Given the description of an element on the screen output the (x, y) to click on. 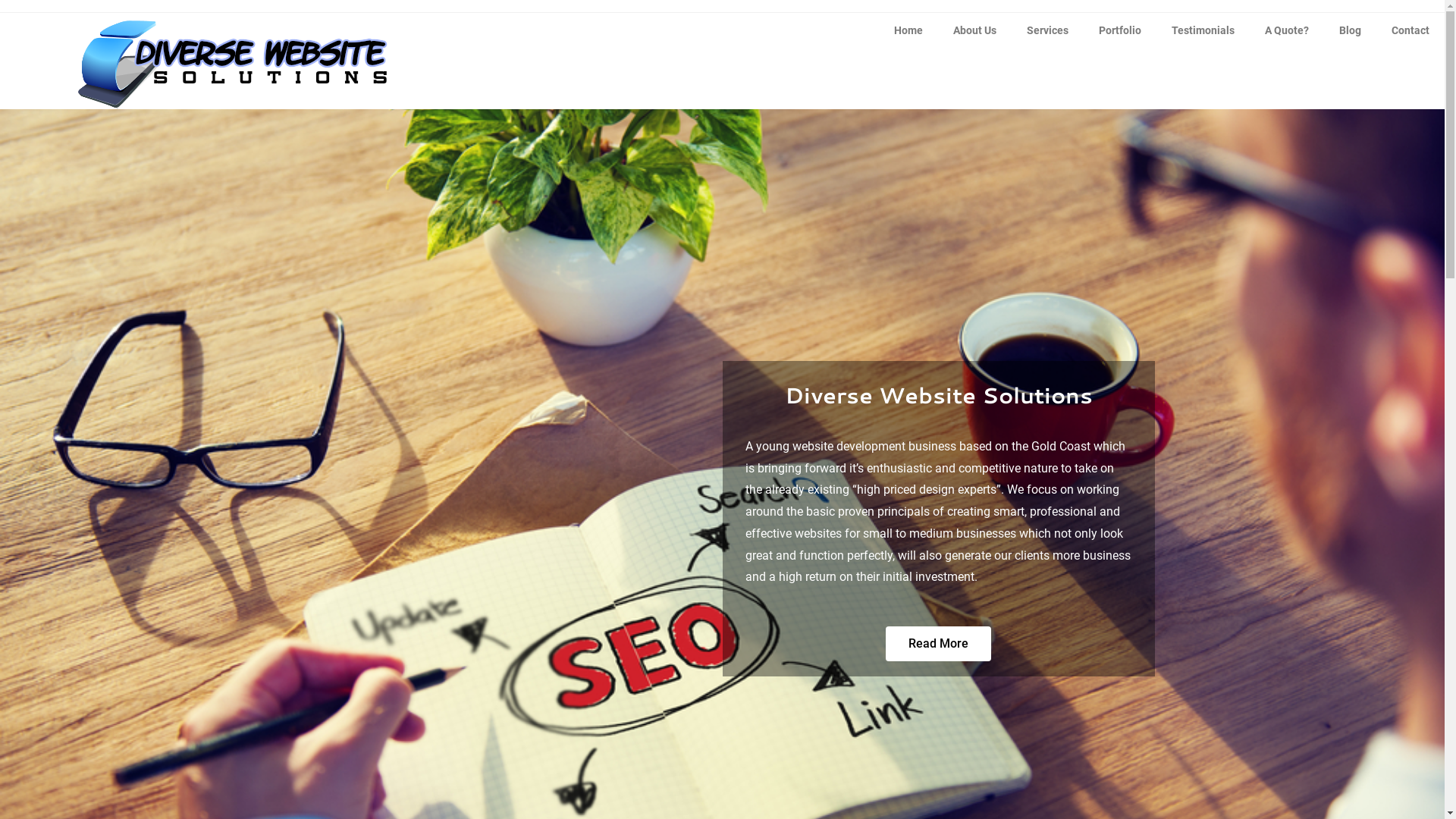
Blog Element type: text (1350, 29)
Portfolio Element type: text (1119, 29)
About Us Element type: text (974, 29)
Testimonials Element type: text (1202, 29)
Contact Element type: text (1410, 29)
A Quote? Element type: text (1286, 29)
Services Element type: text (1047, 29)
Home Element type: text (908, 29)
Read More Element type: text (938, 643)
